Given the description of an element on the screen output the (x, y) to click on. 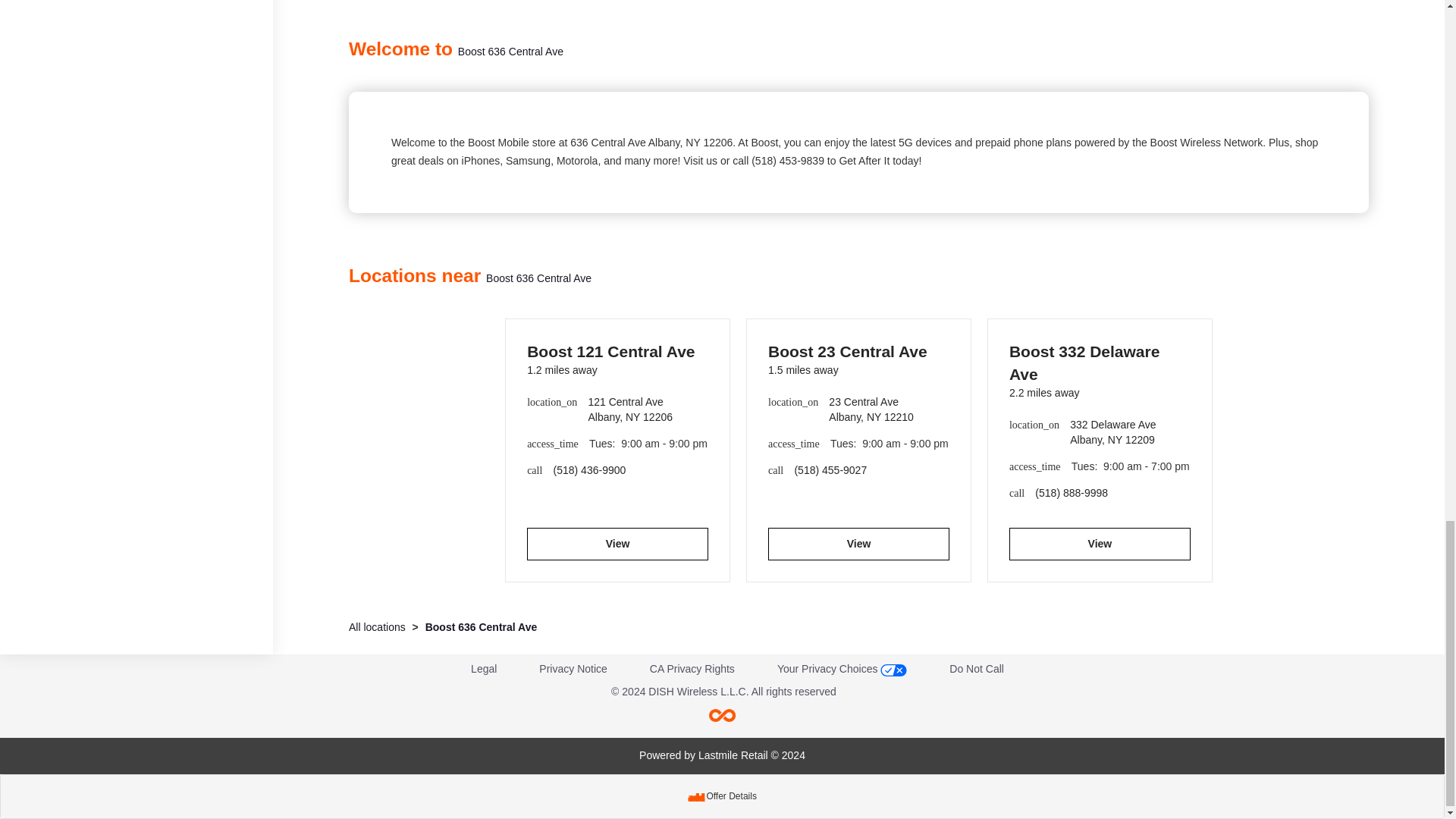
Open Hours: (648, 444)
Open Hours: (889, 444)
Open Hours: (1130, 467)
